Given the description of an element on the screen output the (x, y) to click on. 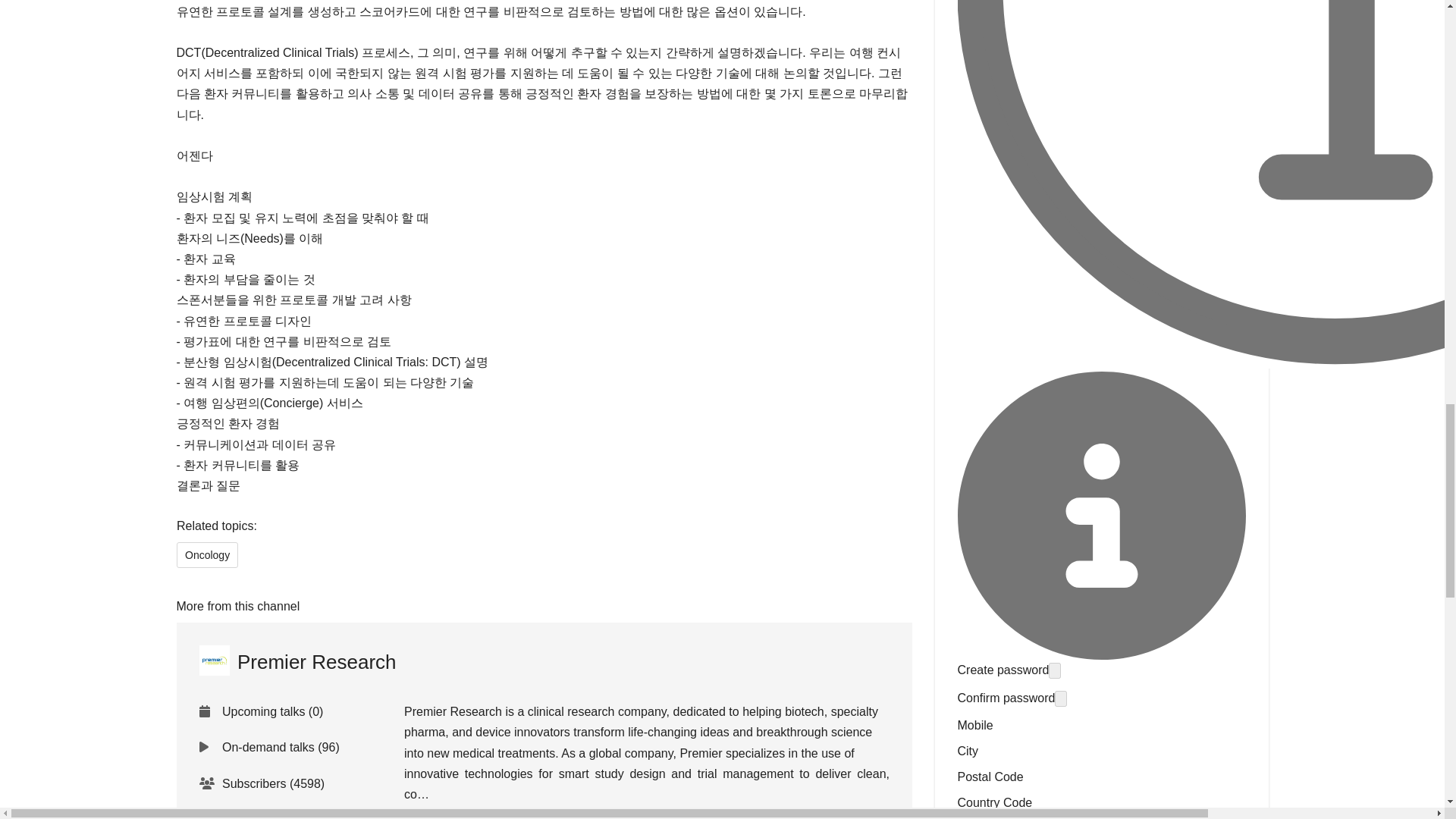
Premier Research (297, 661)
Oncology (206, 555)
Visit Premier Research's channel (297, 661)
